Given the description of an element on the screen output the (x, y) to click on. 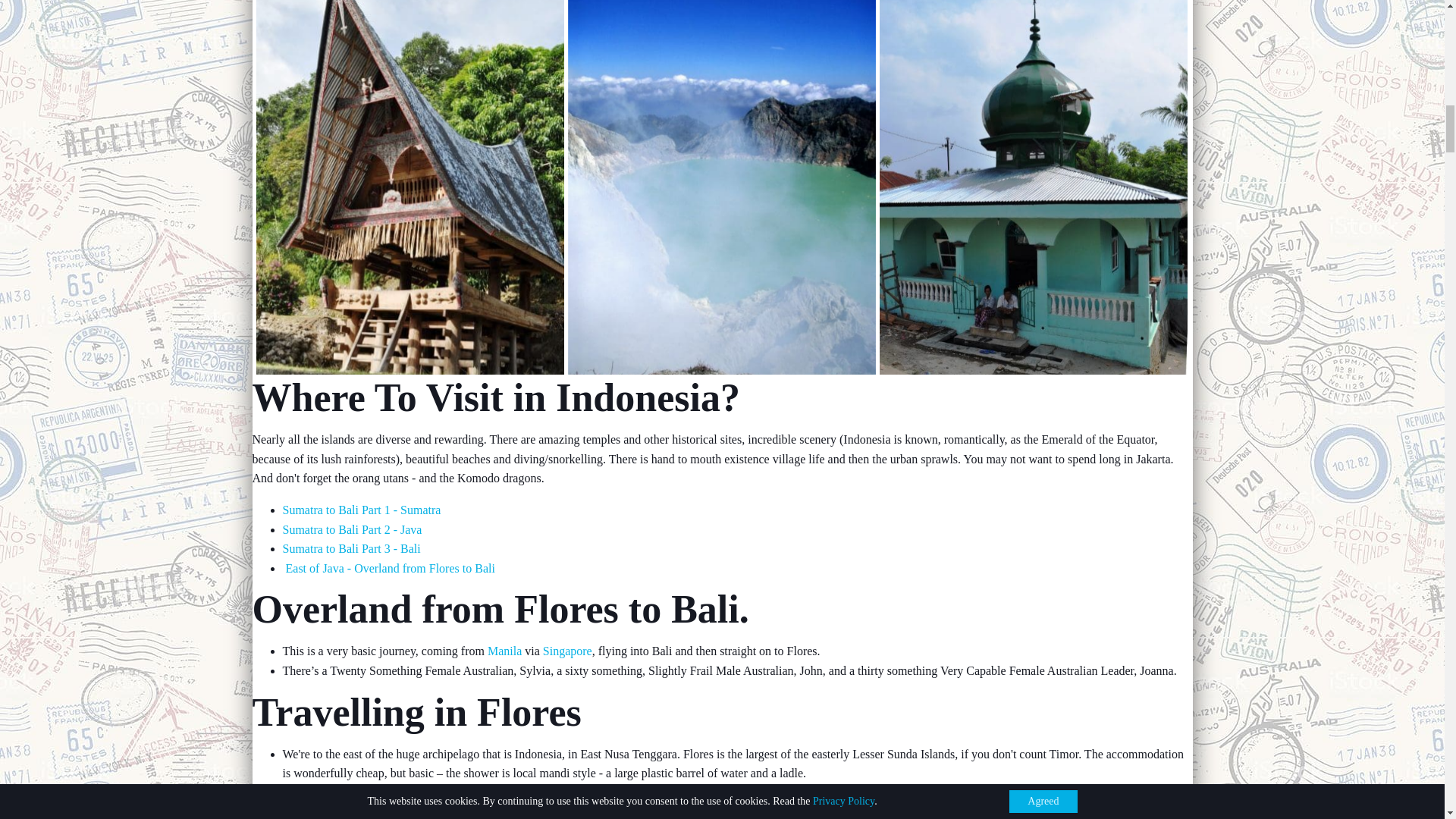
Singapore (567, 650)
Sumatra to Bali Part 3 - Bali (351, 548)
 East of Java - Overland from Flores to Bali (388, 567)
Sumatra to Bali Part 2 - Java (352, 529)
Manila (504, 650)
Sumatra to Bali Part 1 - Sumatra (361, 509)
